Given the description of an element on the screen output the (x, y) to click on. 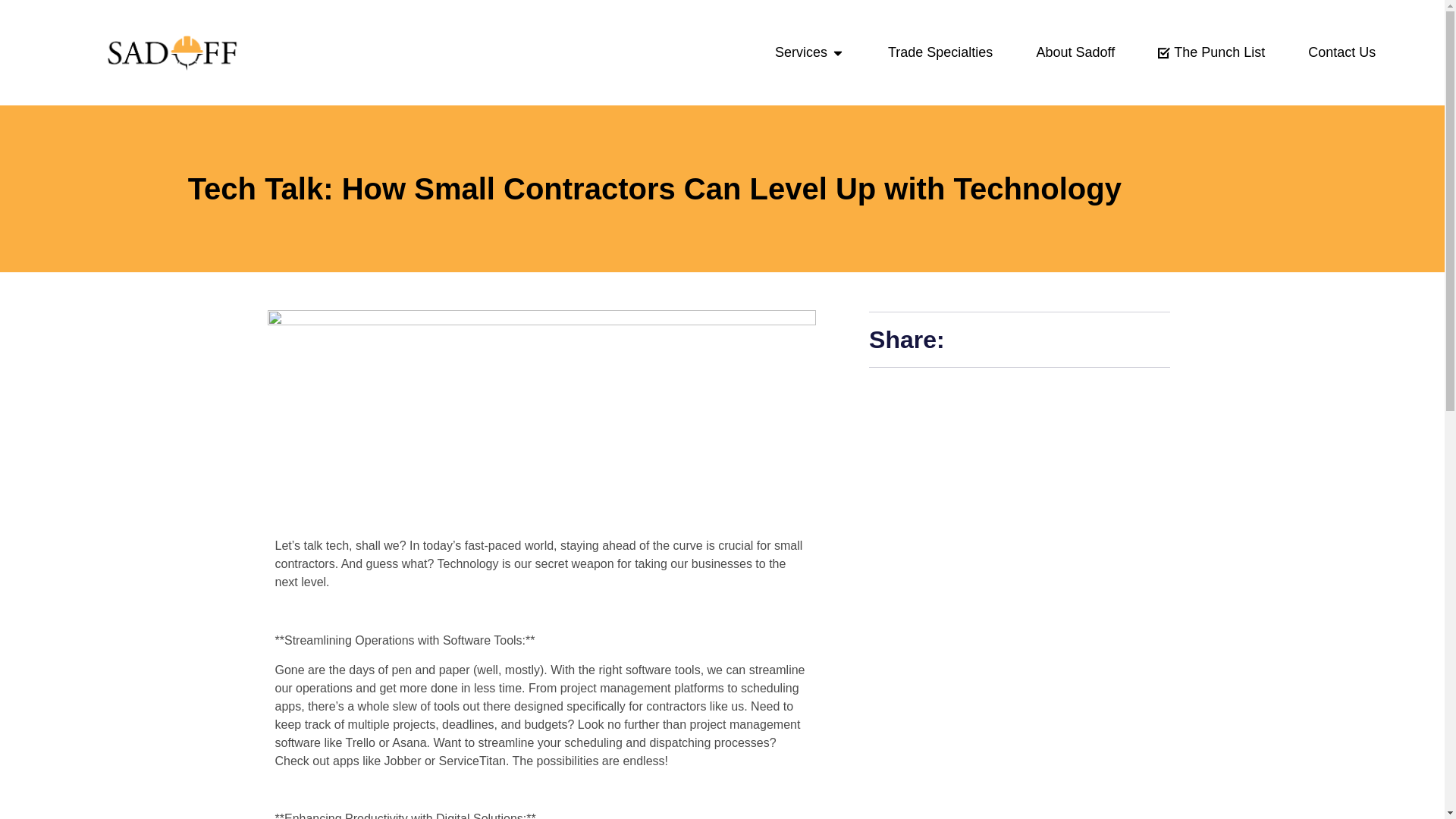
About Sadoff (1075, 52)
Trade Specialties (940, 52)
Contact Us (1341, 52)
The Punch List (1211, 52)
